Given the description of an element on the screen output the (x, y) to click on. 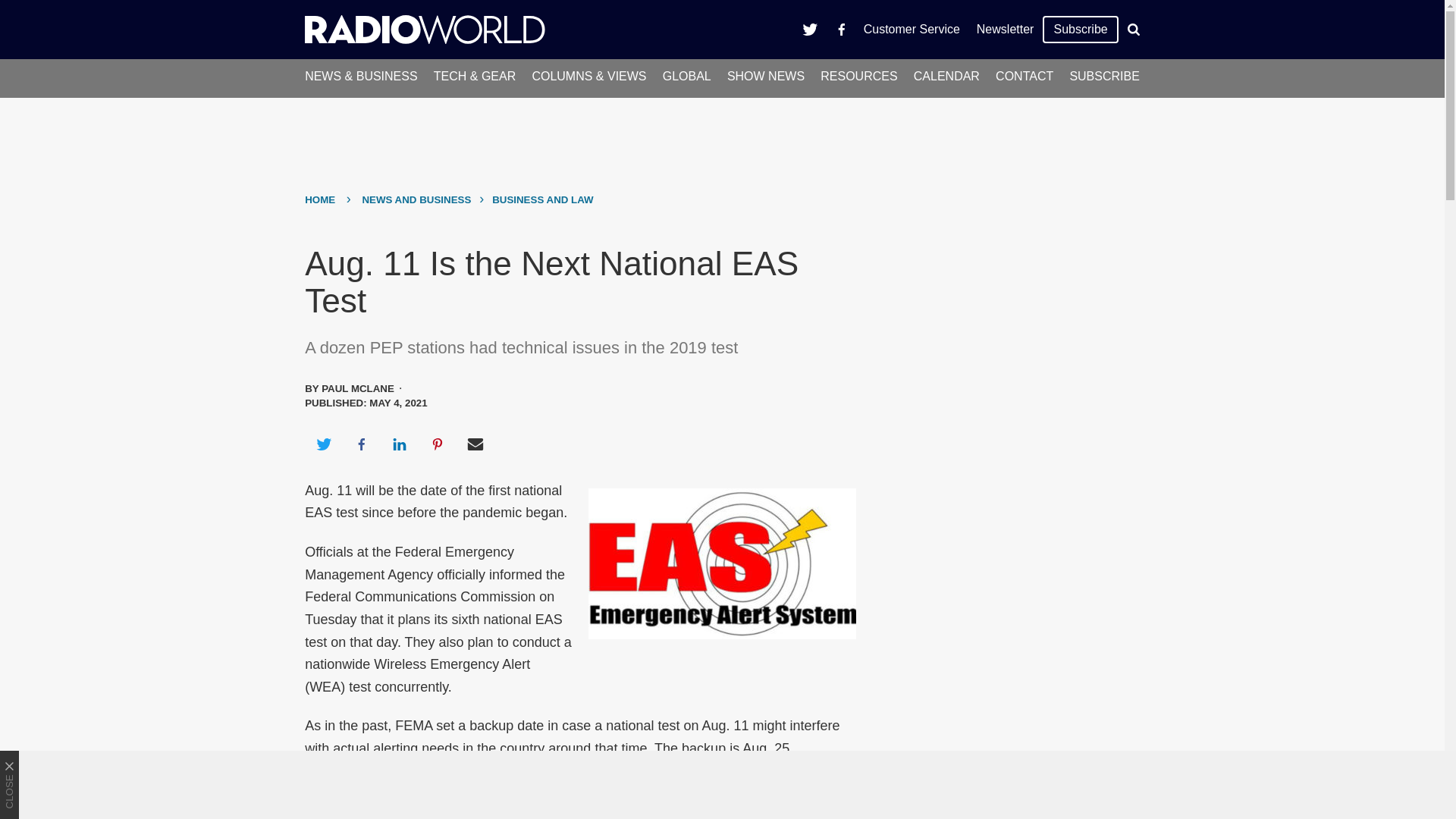
Share on Facebook (361, 444)
Customer Service (912, 29)
Share on Twitter (323, 444)
Share via Email (476, 444)
Share on LinkedIn (399, 444)
Share on Pinterest (438, 444)
